Given the description of an element on the screen output the (x, y) to click on. 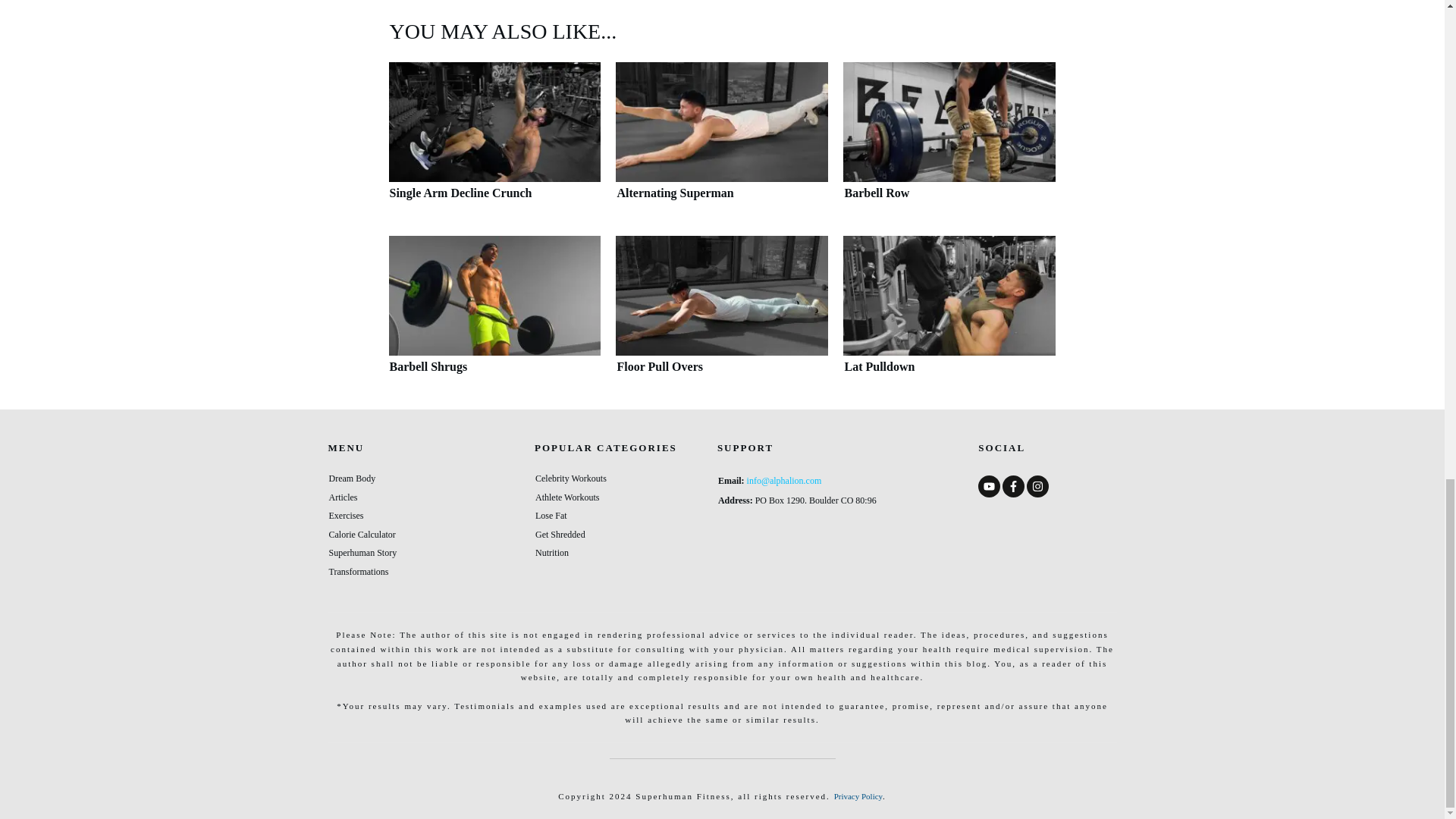
Dream Body (352, 478)
Alternating Superman (721, 141)
Lat Pulldown (949, 314)
Barbell Shrugs (493, 314)
Lat Pulldown (949, 295)
Barbell Row (949, 121)
Articles (343, 497)
Barbell Shrugs (493, 295)
Single Arm Decline Crunch (493, 141)
Calorie Calculator (362, 534)
Alternating Superman (721, 121)
Exercises (346, 515)
Floor Pull Overs (721, 314)
Single Arm Decline Crunch (493, 121)
Floor Pull Overs (721, 295)
